Given the description of an element on the screen output the (x, y) to click on. 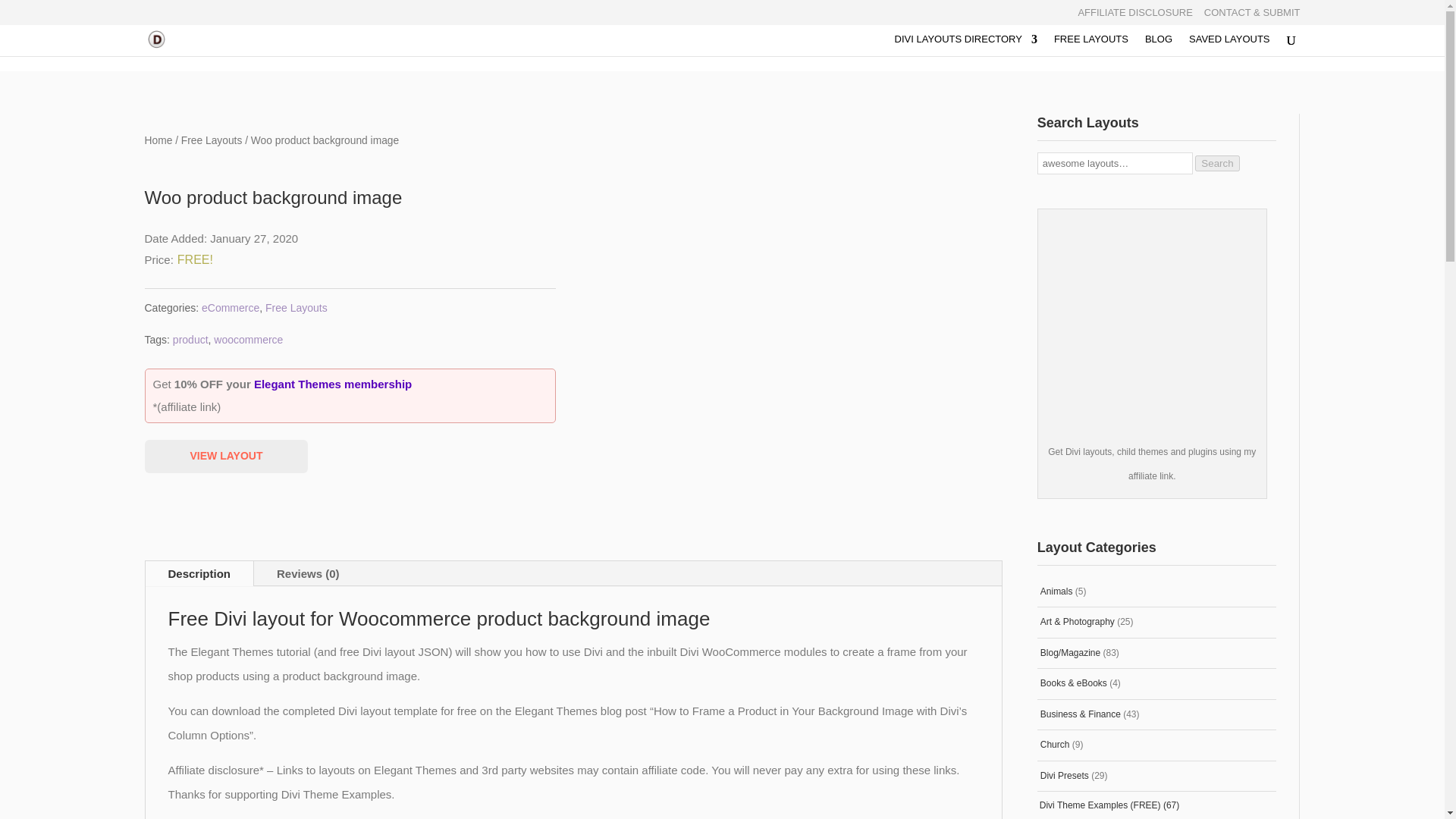
DIVI LAYOUTS DIRECTORY (965, 45)
Elegant Themes membership (332, 383)
AFFILIATE DISCLOSURE (1134, 16)
